Given the description of an element on the screen output the (x, y) to click on. 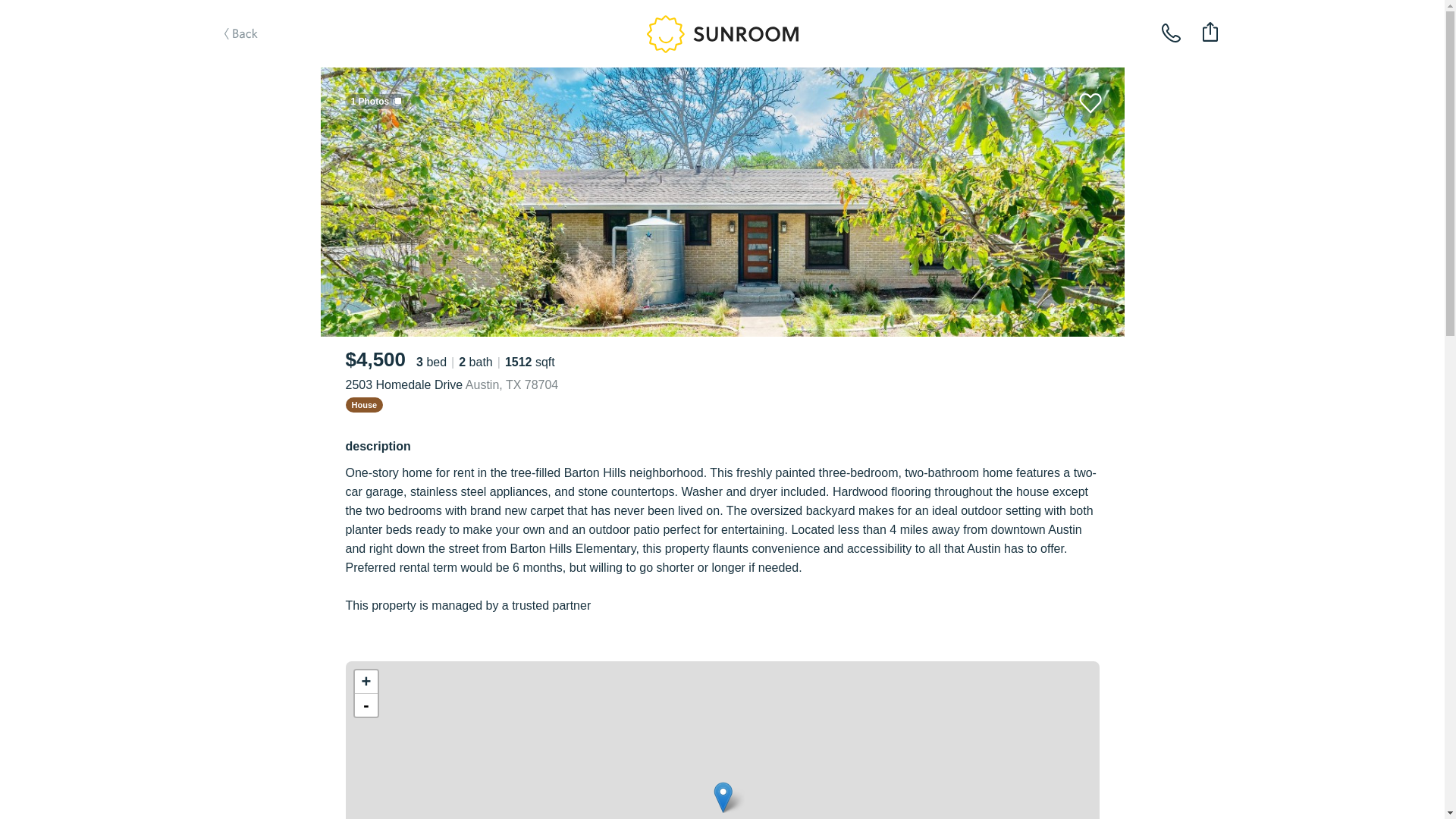
Zoom out (366, 704)
Zoom in (366, 681)
Back (260, 57)
